Given the description of an element on the screen output the (x, y) to click on. 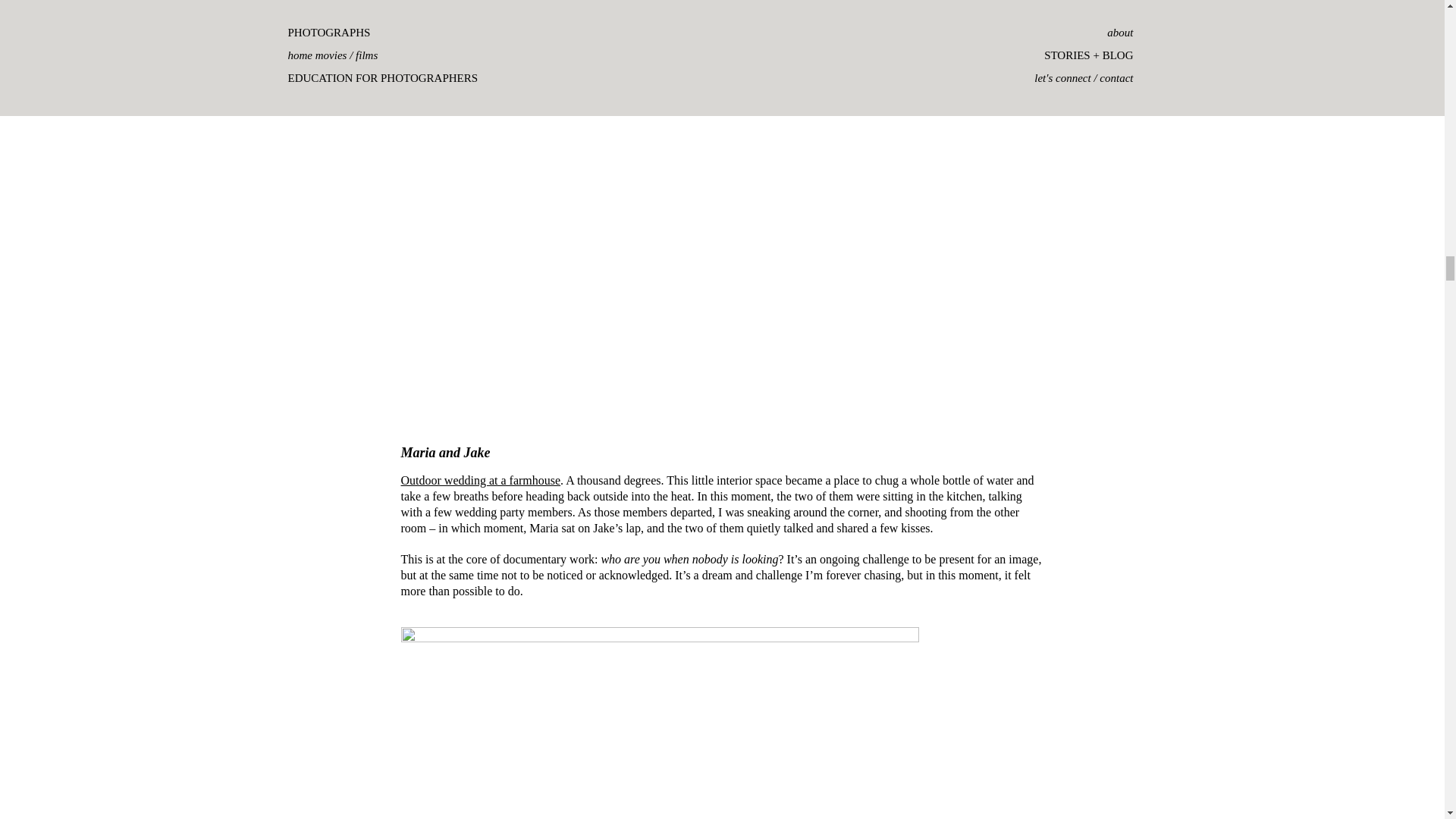
Outdoor wedding at a farmhouse (480, 480)
